Given the description of an element on the screen output the (x, y) to click on. 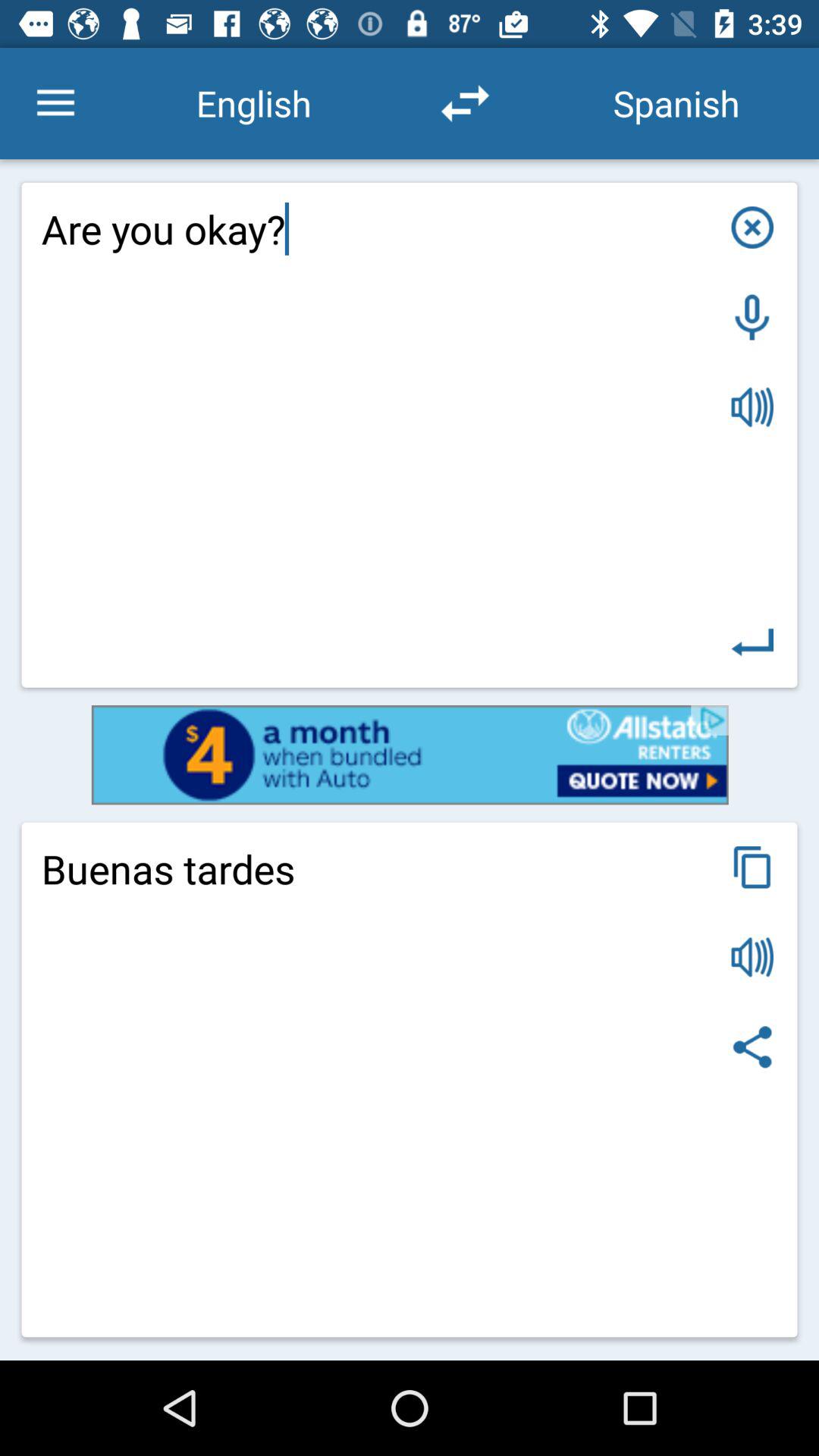
speech to text (752, 317)
